Given the description of an element on the screen output the (x, y) to click on. 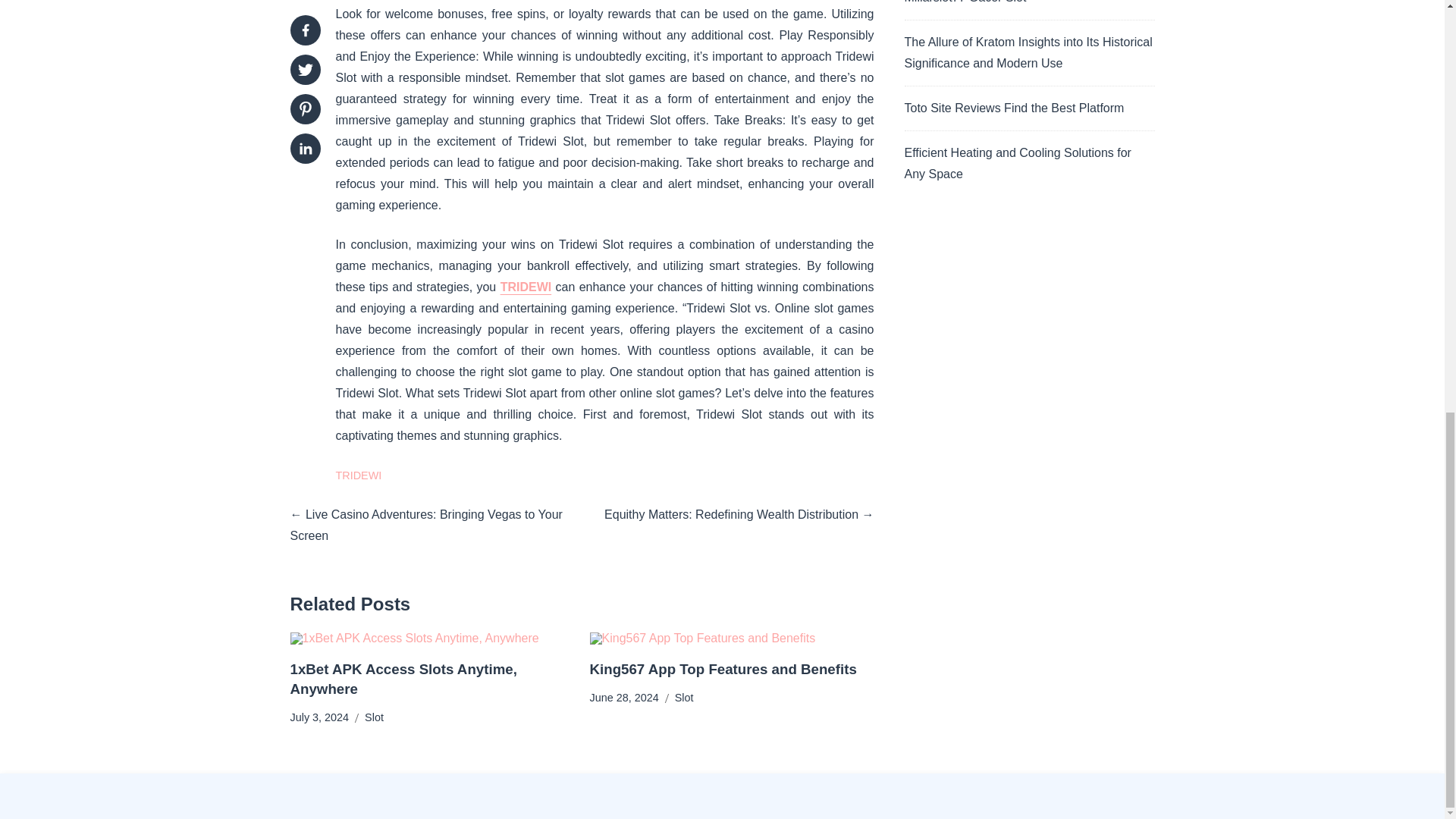
TRIDEWI (525, 286)
Toto Site Reviews Find the Best Platform (1014, 107)
June 28, 2024 (624, 697)
July 3, 2024 (319, 717)
Betting Smart: Tips for Success with Miliarslot77 Gacor Slot (1000, 2)
Slot (374, 717)
Efficient Heating and Cooling Solutions for Any Space (1017, 163)
Slot (684, 697)
TRIDEWI (357, 475)
